Given the description of an element on the screen output the (x, y) to click on. 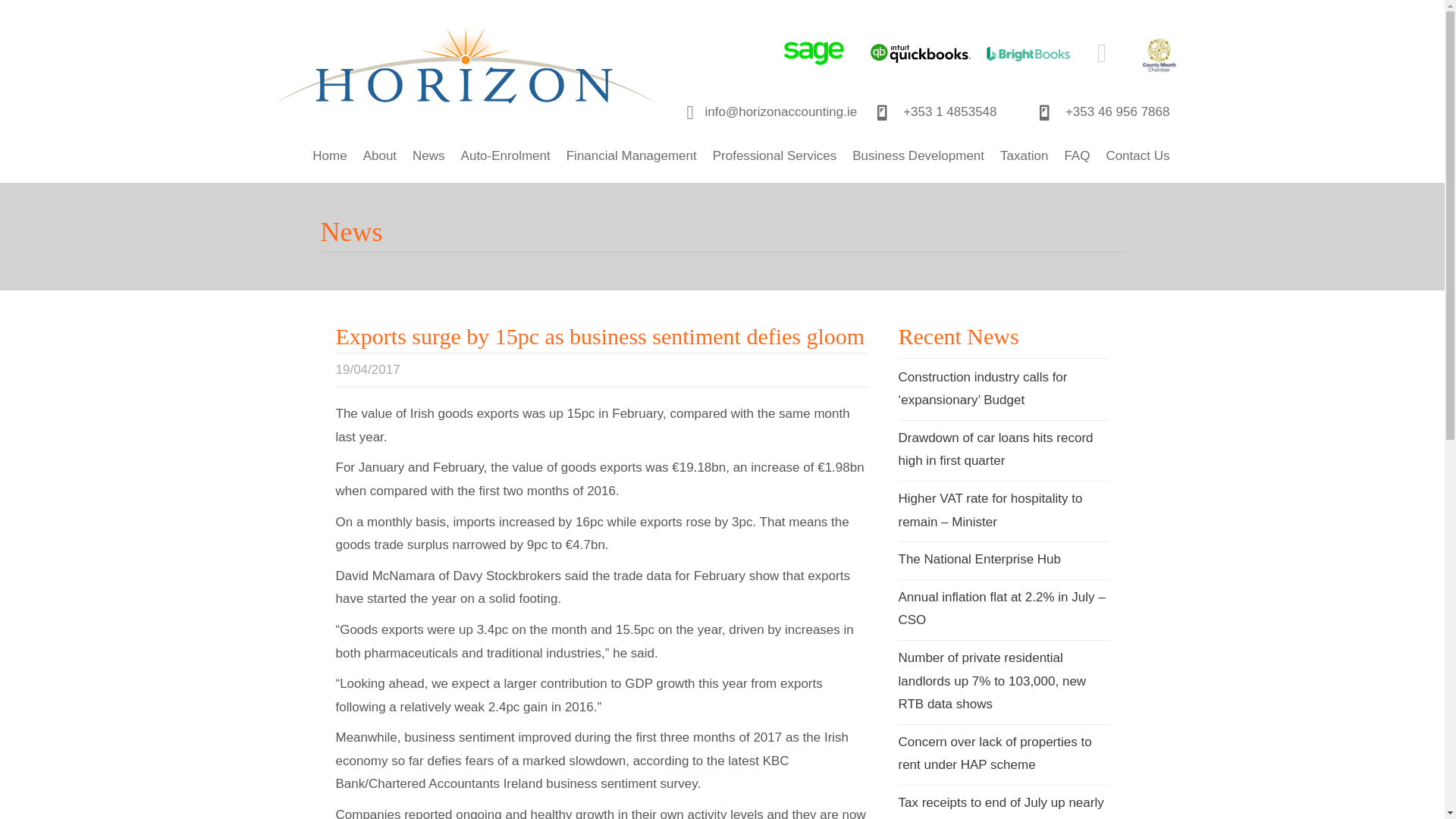
Home (328, 156)
News (428, 156)
About (379, 156)
quickbooks (920, 53)
Financial Management (631, 156)
horizon-energy-group1 (465, 74)
unnamed (1159, 54)
Auto-Enrolment (504, 156)
brightbooks logo (1027, 53)
Professional Services (774, 156)
